Given the description of an element on the screen output the (x, y) to click on. 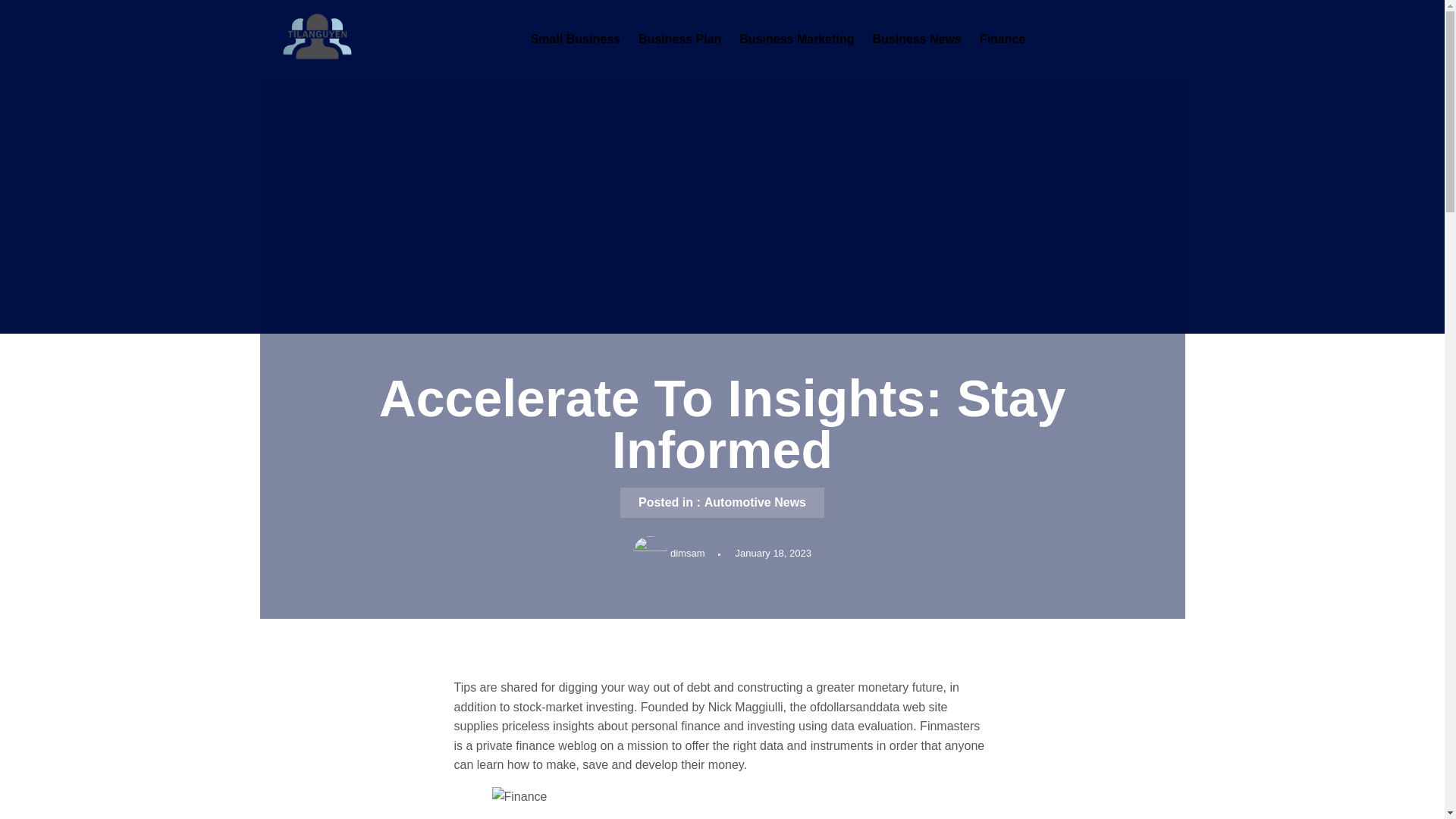
TLY (271, 78)
Automotive News (755, 502)
Business Marketing (796, 39)
Business Plan (679, 39)
Business News (916, 39)
Finance (1002, 39)
Small Business (575, 39)
